Given the description of an element on the screen output the (x, y) to click on. 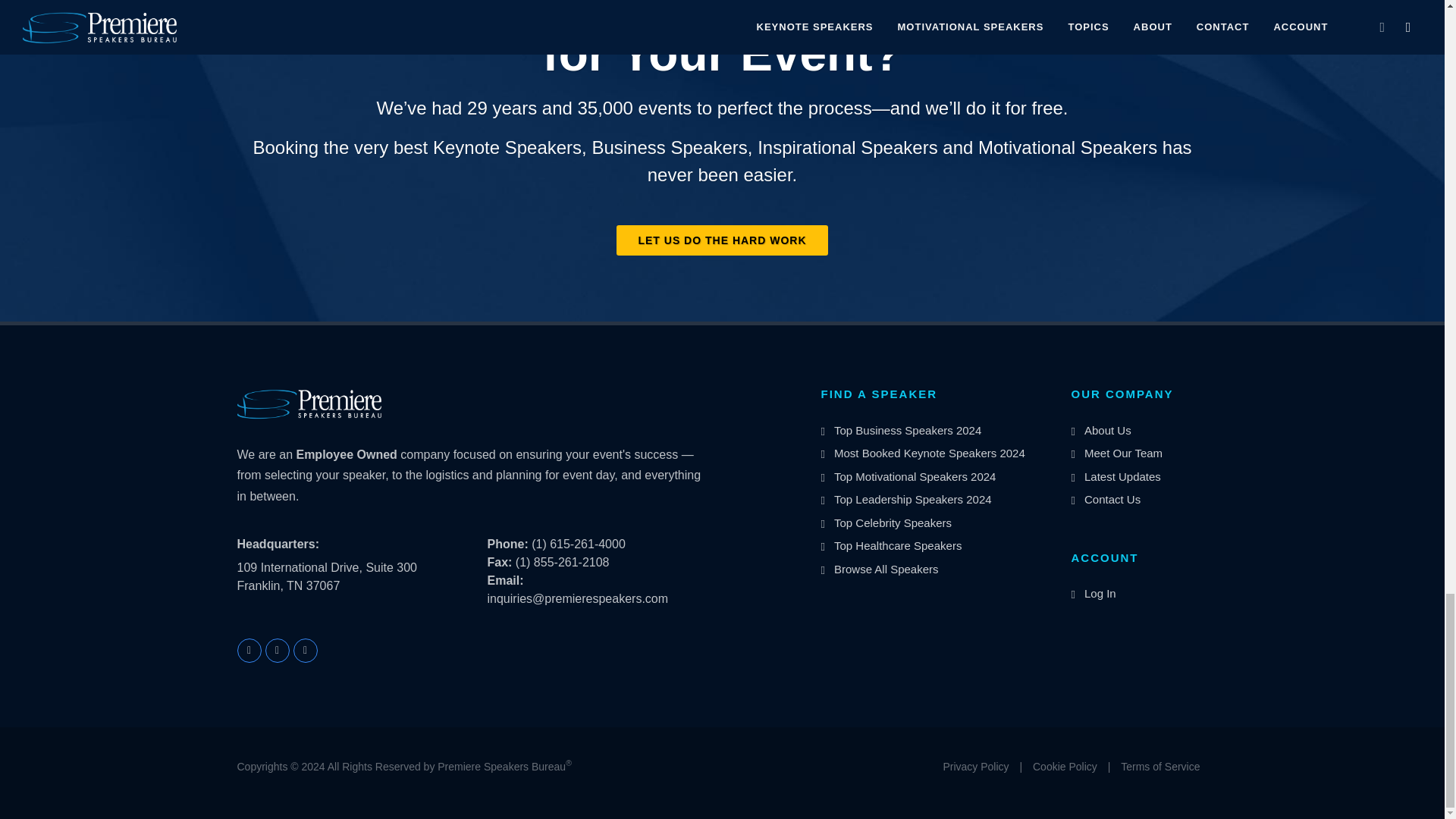
Privacy Policy (975, 766)
Headquarters (276, 544)
Fax (499, 562)
Email Address (504, 580)
Cookie Policy (1064, 766)
Terms of Service (1160, 766)
Phone Number (506, 543)
